Given the description of an element on the screen output the (x, y) to click on. 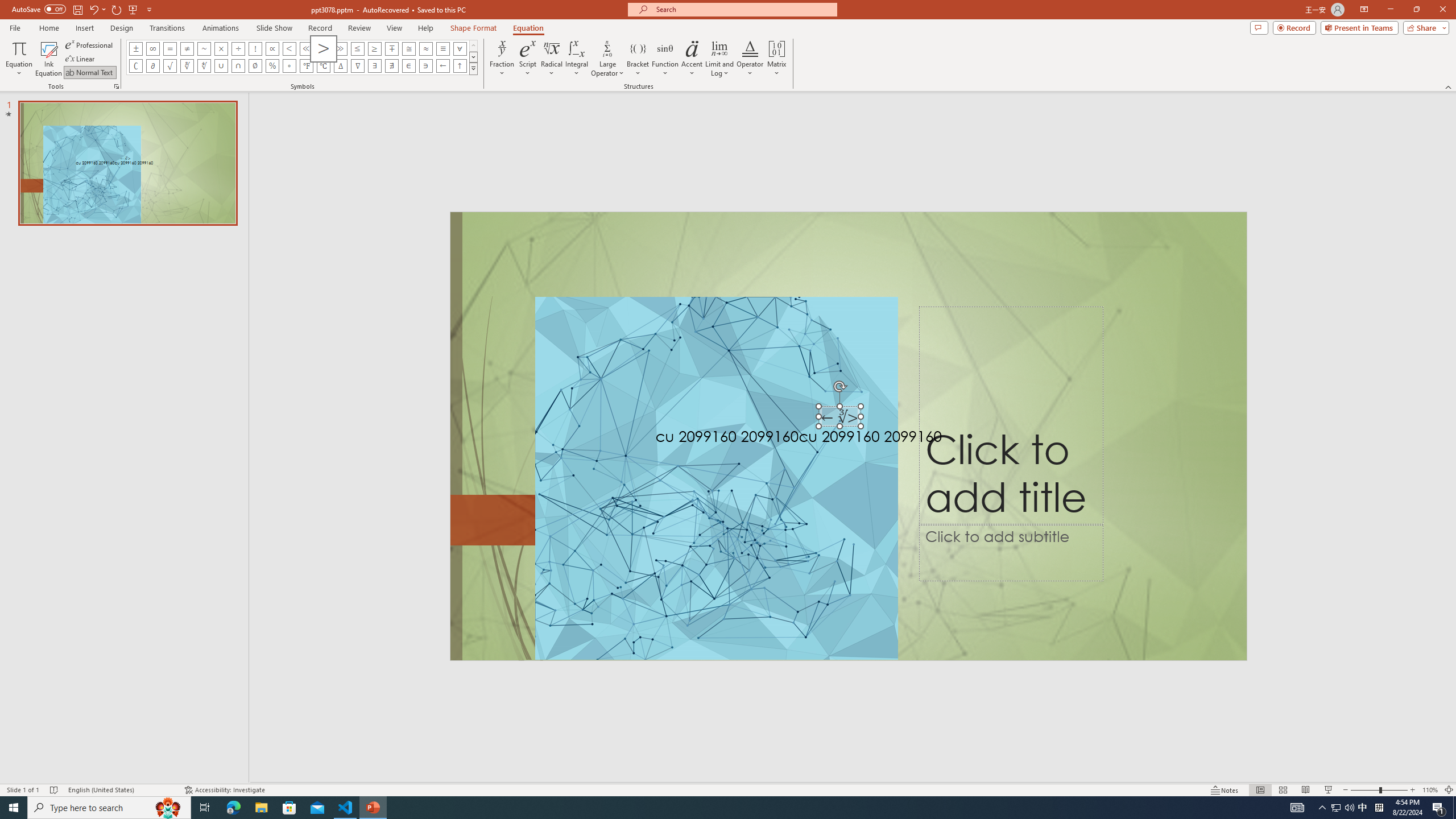
Equation Symbol Minus Plus (391, 48)
Equation Symbol Factorial (255, 48)
Equation Symbol Less Than (289, 48)
Large Operator (607, 58)
Equation Symbol Greater Than or Equal To (374, 48)
Equation Symbol Left Arrow (442, 65)
Limit and Log (719, 58)
Equation Symbol Degrees Fahrenheit (306, 65)
